Given the description of an element on the screen output the (x, y) to click on. 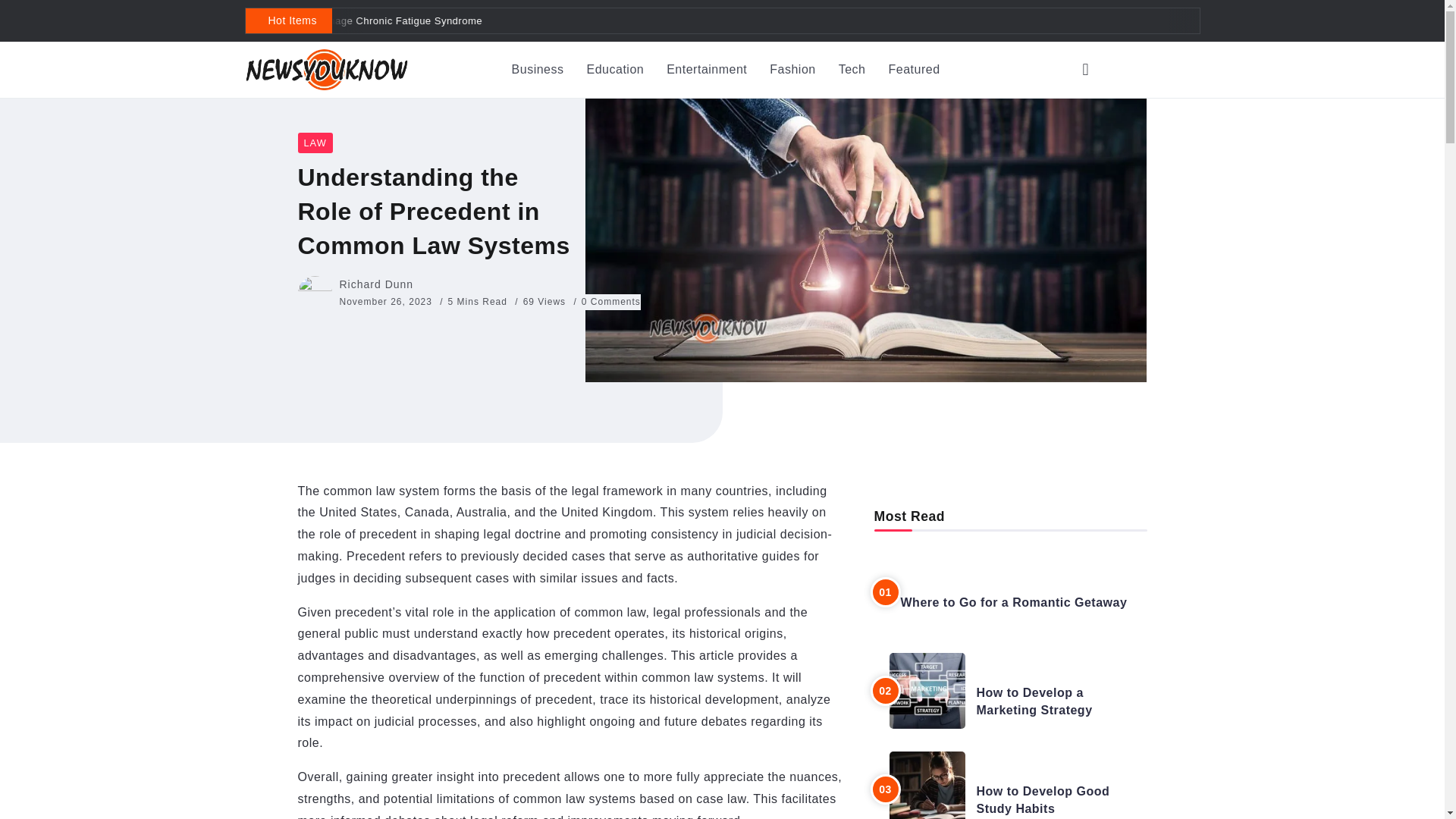
How to Manage Chronic Fatigue Syndrome (247, 20)
News You Know (325, 68)
Featured (914, 69)
Business (537, 69)
Education (615, 69)
Entertainment (706, 69)
LAW (314, 142)
Richard Dunn (376, 284)
Law (314, 142)
0 Comments (610, 301)
Fashion (791, 69)
Tech (852, 69)
Where to Go for a Romantic Getaway (1013, 602)
